Given the description of an element on the screen output the (x, y) to click on. 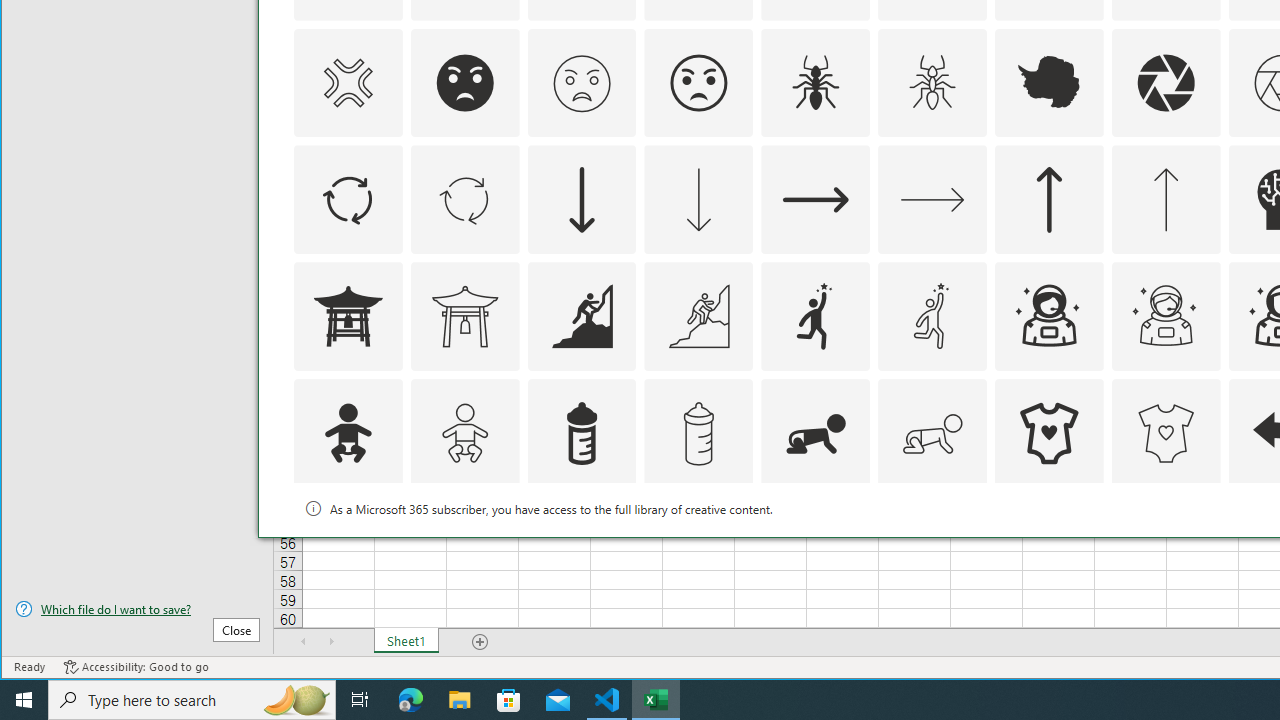
AutomationID: Icons_ArrowRight (815, 200)
AutomationID: Icons_BabyCrawling (815, 434)
AutomationID: Icons_AngryFace_Outline (698, 82)
AutomationID: Icons_ArrowRight_M (932, 200)
AutomationID: Icons_AngryFace_M (582, 82)
AutomationID: Icons_BabyOnesie_M (1165, 434)
AutomationID: Icons_AstronautFemale (1048, 316)
Type here to search (191, 699)
